Given the description of an element on the screen output the (x, y) to click on. 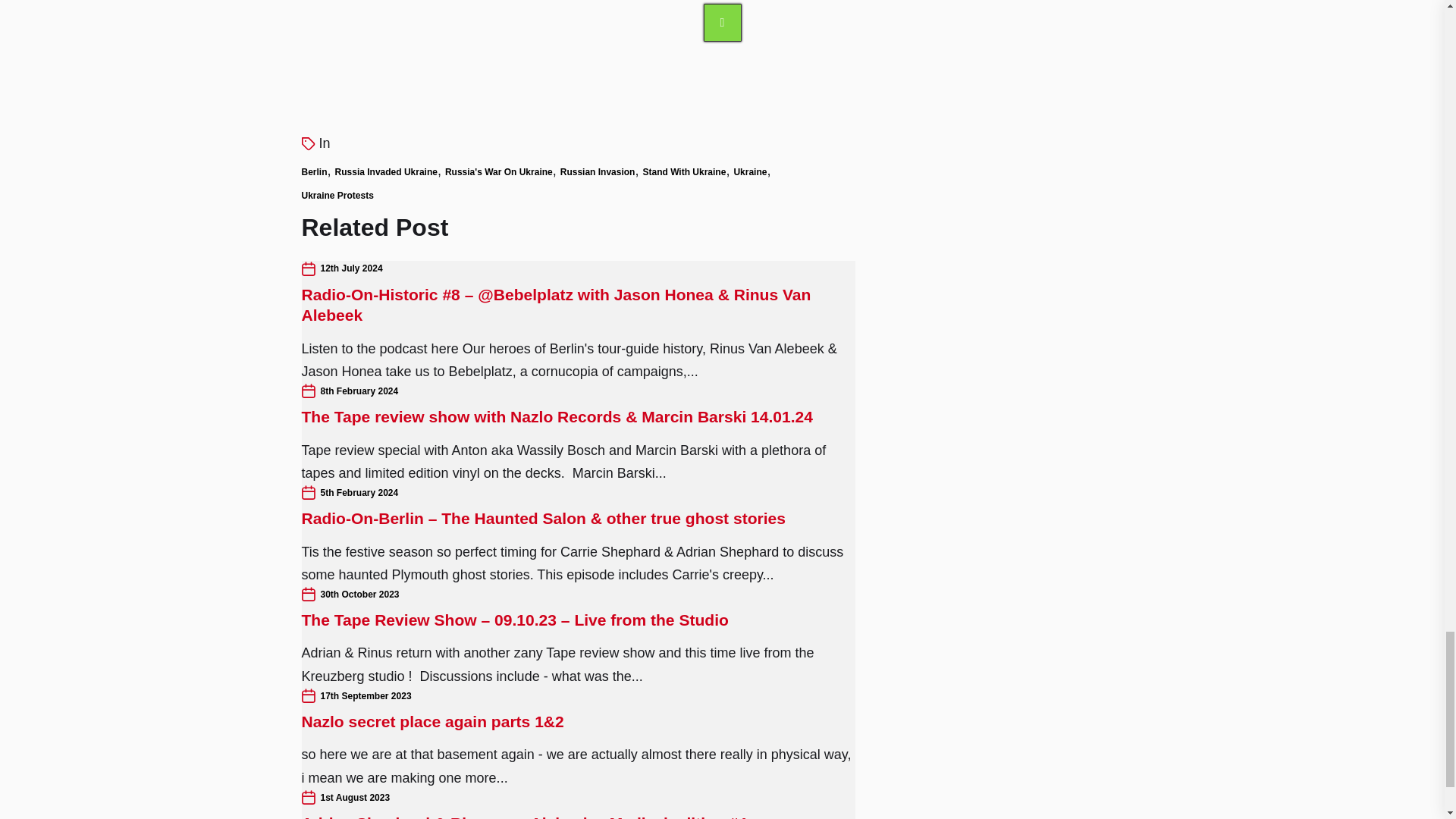
Ukraine (750, 172)
Berlin (314, 172)
Russia Invaded Ukraine (386, 172)
Russia'S War On Ukraine (499, 172)
Stand With Ukraine (683, 172)
Ukraine Protests (337, 194)
12th July 2024 (350, 268)
Russian Invasion (597, 172)
